Given the description of an element on the screen output the (x, y) to click on. 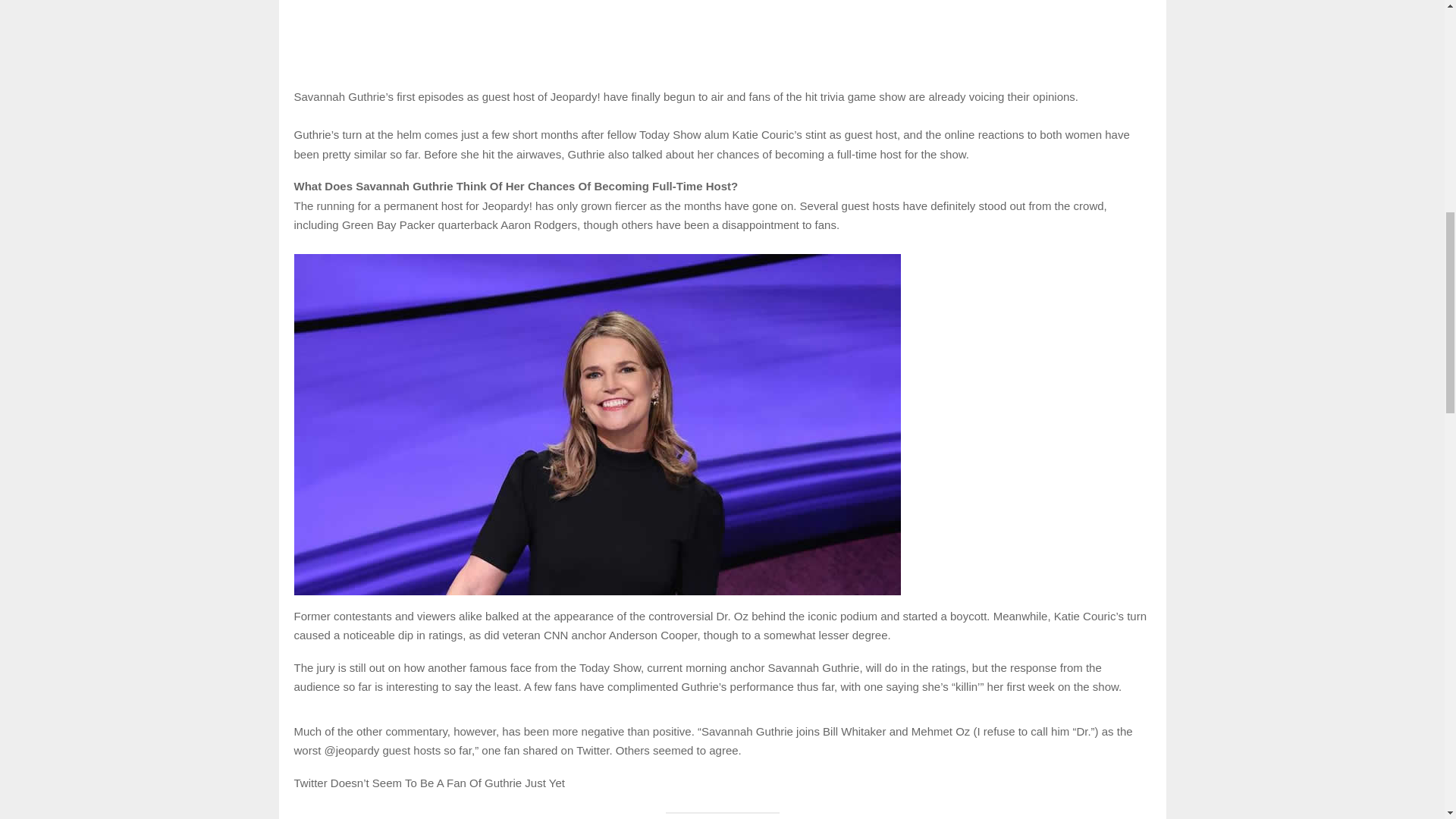
Advertisement (722, 35)
